Given the description of an element on the screen output the (x, y) to click on. 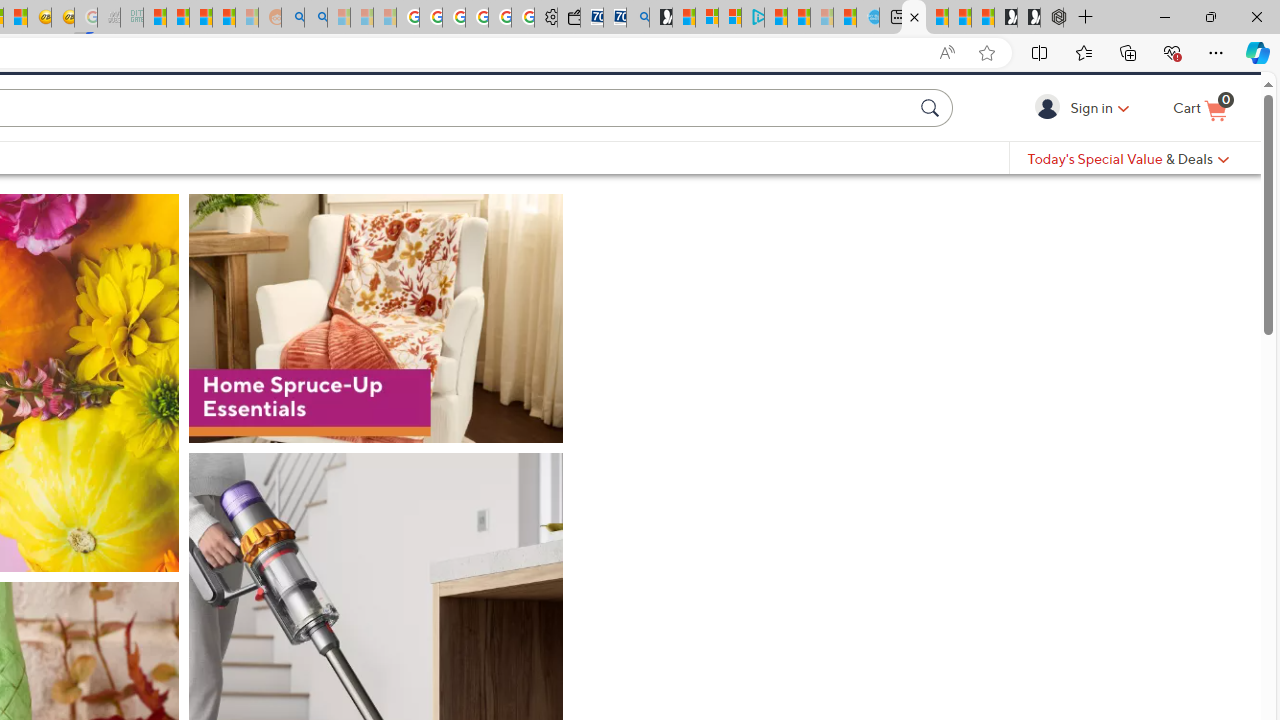
Cart is Empty  (1199, 143)
DITOGAMES AG Imprint - Sleeping (132, 17)
Home Spruce-Up Essentials (376, 379)
This site has coupons! Shopping in Microsoft Edge, 16 (826, 53)
